Given the description of an element on the screen output the (x, y) to click on. 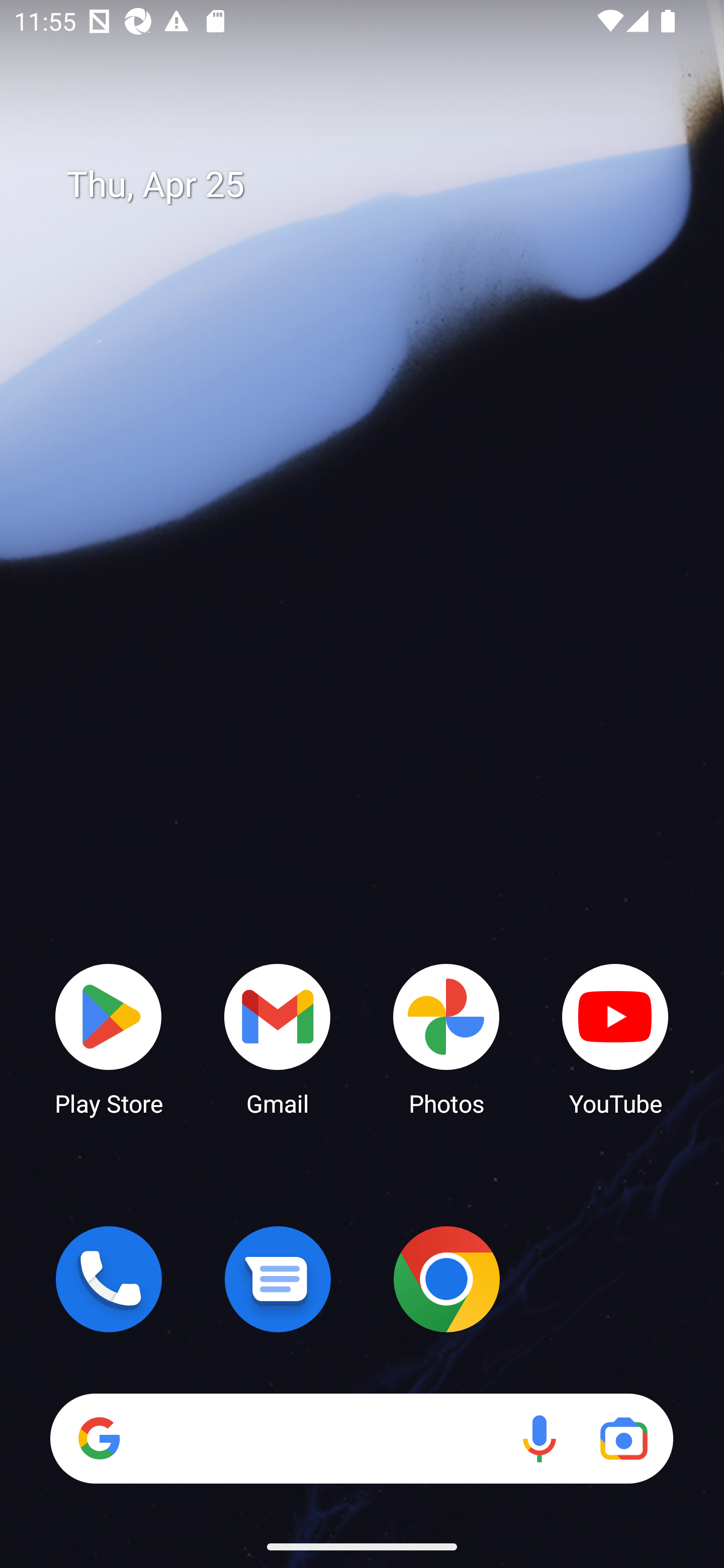
Thu, Apr 25 (375, 184)
Play Store (108, 1038)
Gmail (277, 1038)
Photos (445, 1038)
YouTube (615, 1038)
Phone (108, 1279)
Messages (277, 1279)
Chrome (446, 1279)
Search Voice search Google Lens (361, 1438)
Voice search (539, 1438)
Google Lens (623, 1438)
